Given the description of an element on the screen output the (x, y) to click on. 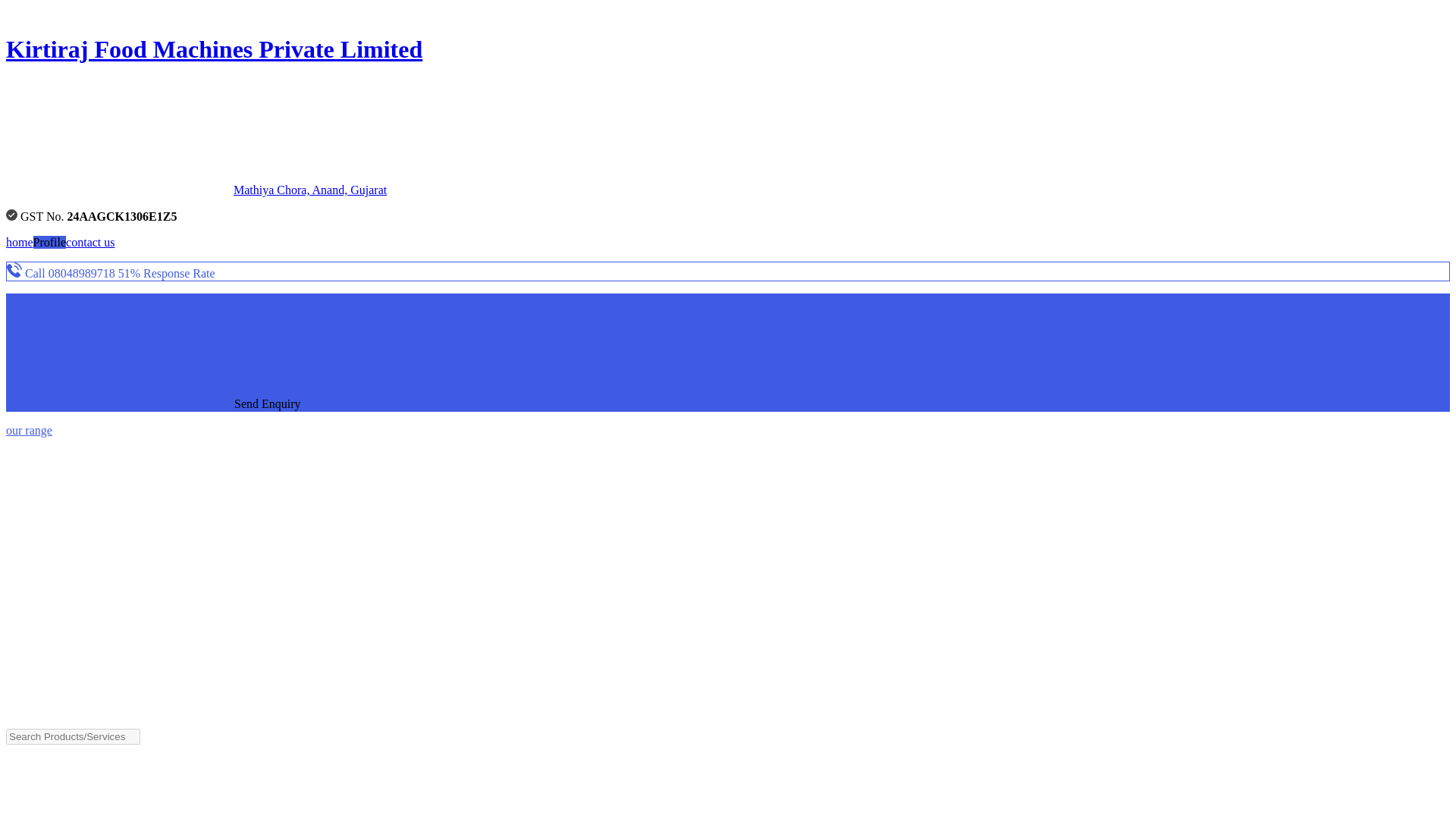
contact us (90, 241)
home (19, 241)
our range (28, 430)
